Given the description of an element on the screen output the (x, y) to click on. 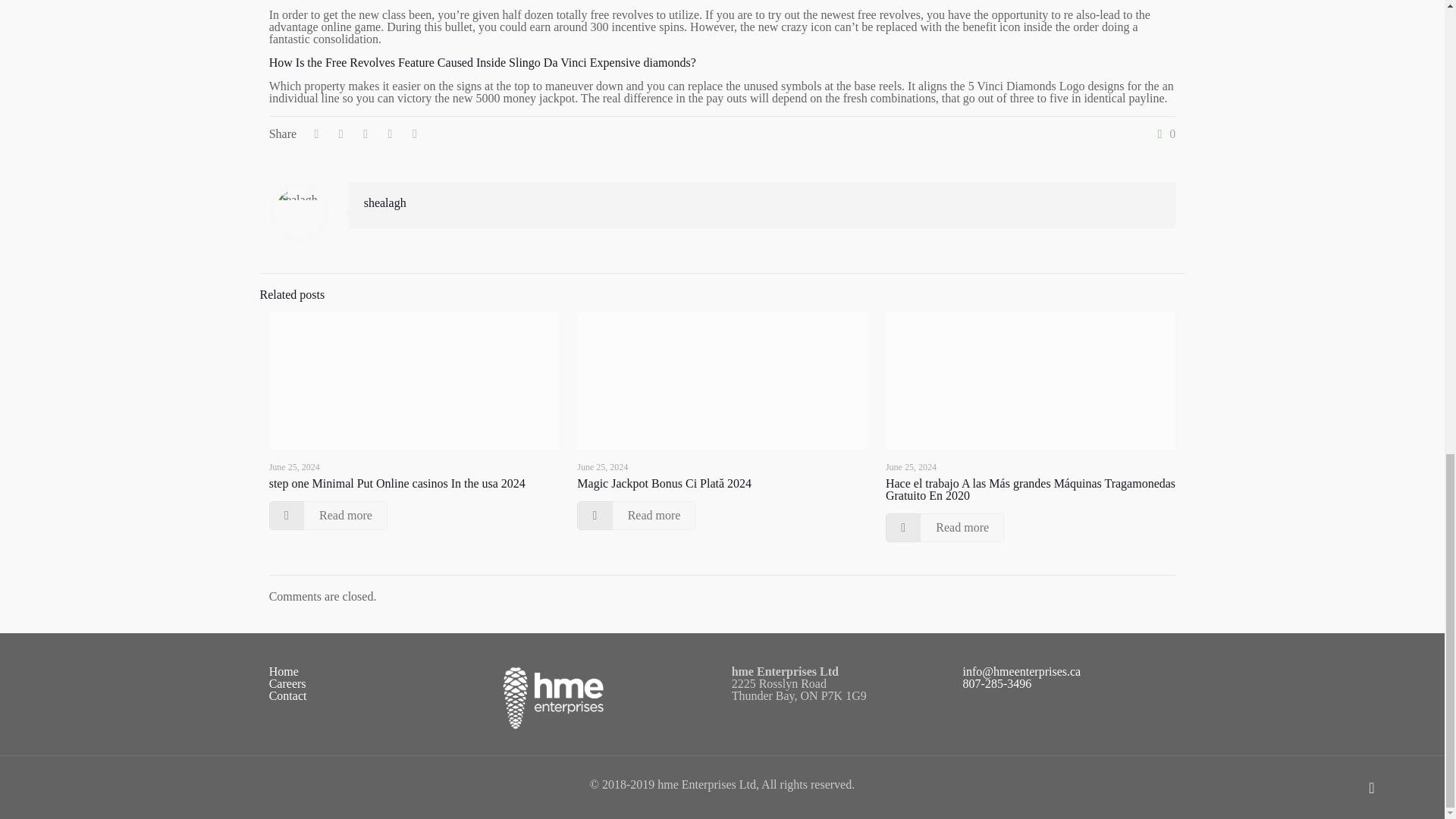
Read more (635, 515)
Read more (328, 515)
shealagh (385, 202)
0 (1162, 133)
step one Minimal Put Online casinos In the usa 2024 (397, 482)
